Given the description of an element on the screen output the (x, y) to click on. 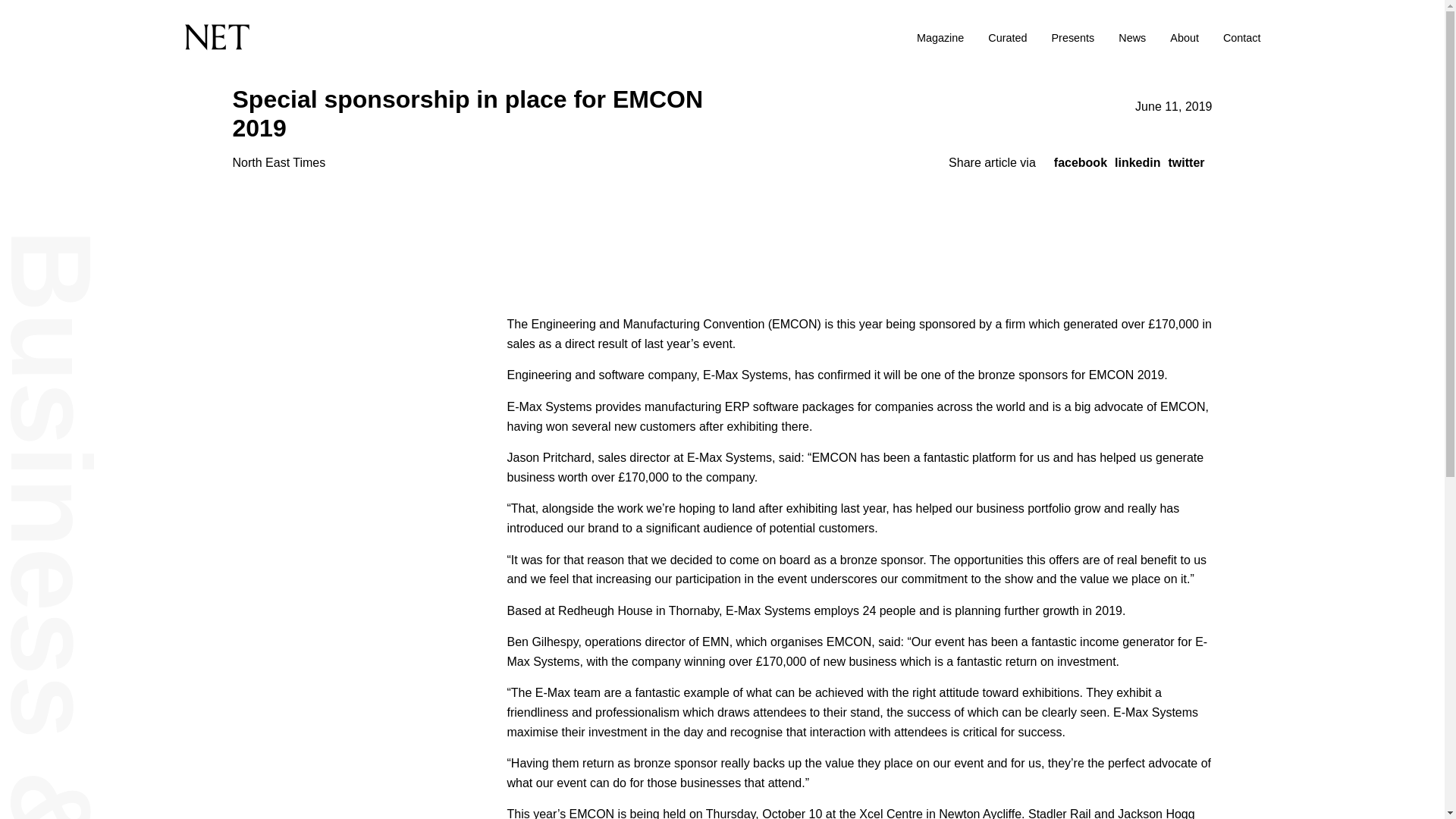
twitter (1185, 162)
Share via Facebook (1080, 162)
Curated (1007, 37)
linkedin (1137, 162)
Contact (1241, 37)
Share via Twitter (1185, 162)
Presents (1072, 37)
facebook (1080, 162)
Share via LinkedIn (1137, 162)
News (1131, 37)
